Given the description of an element on the screen output the (x, y) to click on. 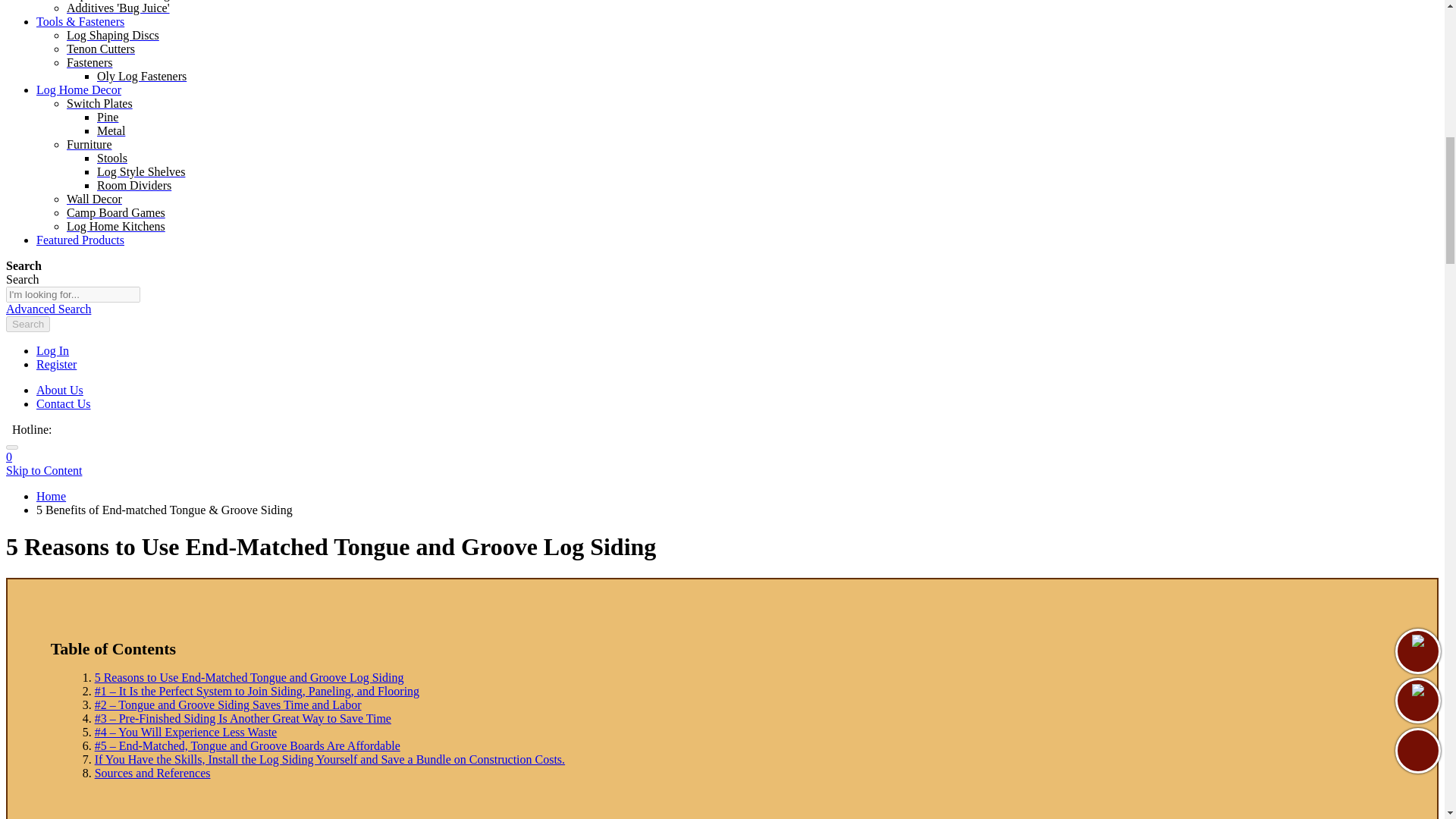
Search (27, 324)
Go to Home Page (50, 495)
